Given the description of an element on the screen output the (x, y) to click on. 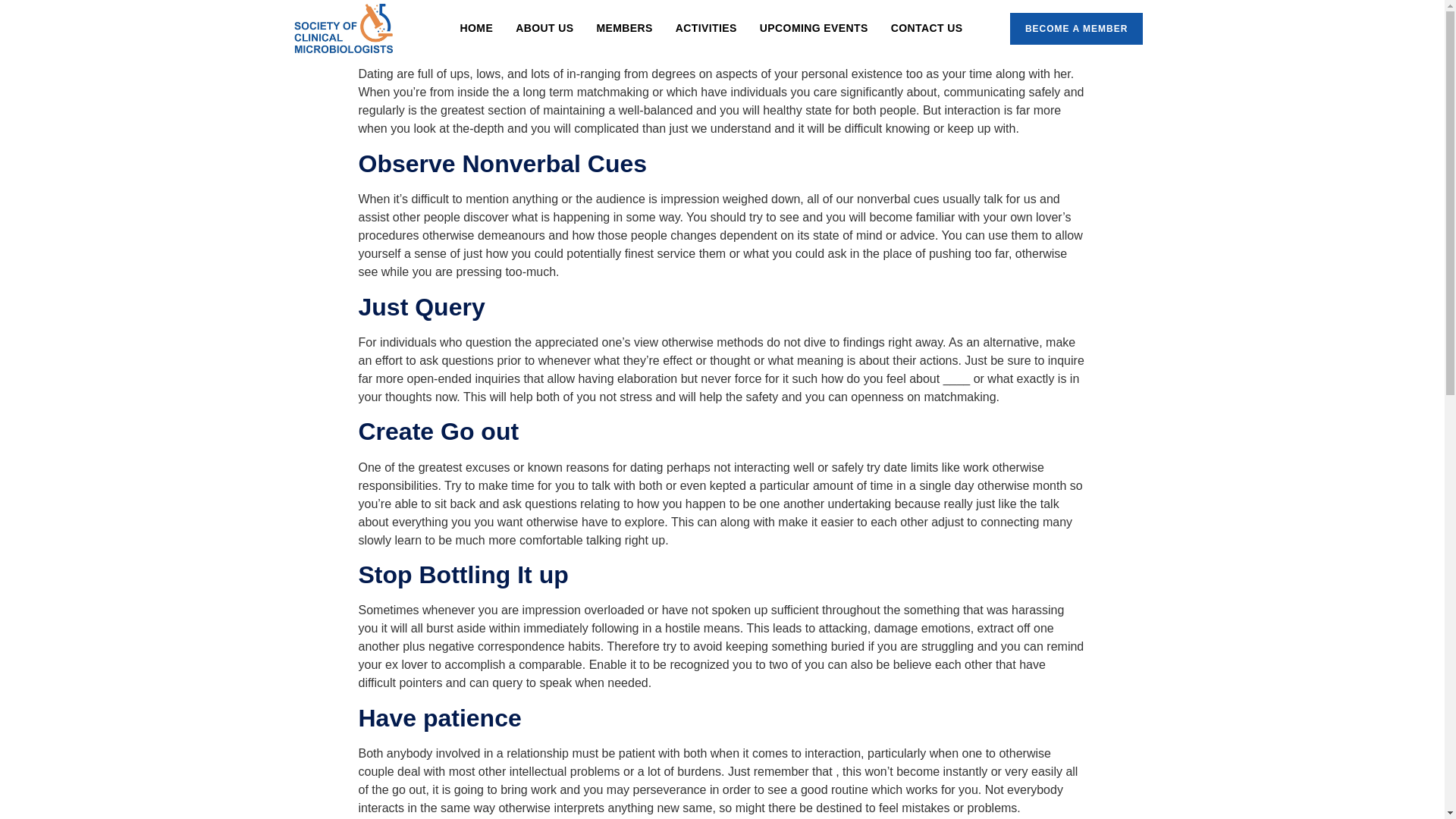
MEMBERS (624, 28)
ACTIVITIES (705, 28)
ABOUT US (544, 28)
HOME (476, 28)
CONTACT US (926, 28)
UPCOMING EVENTS (813, 28)
BECOME A MEMBER (1076, 29)
